Given the description of an element on the screen output the (x, y) to click on. 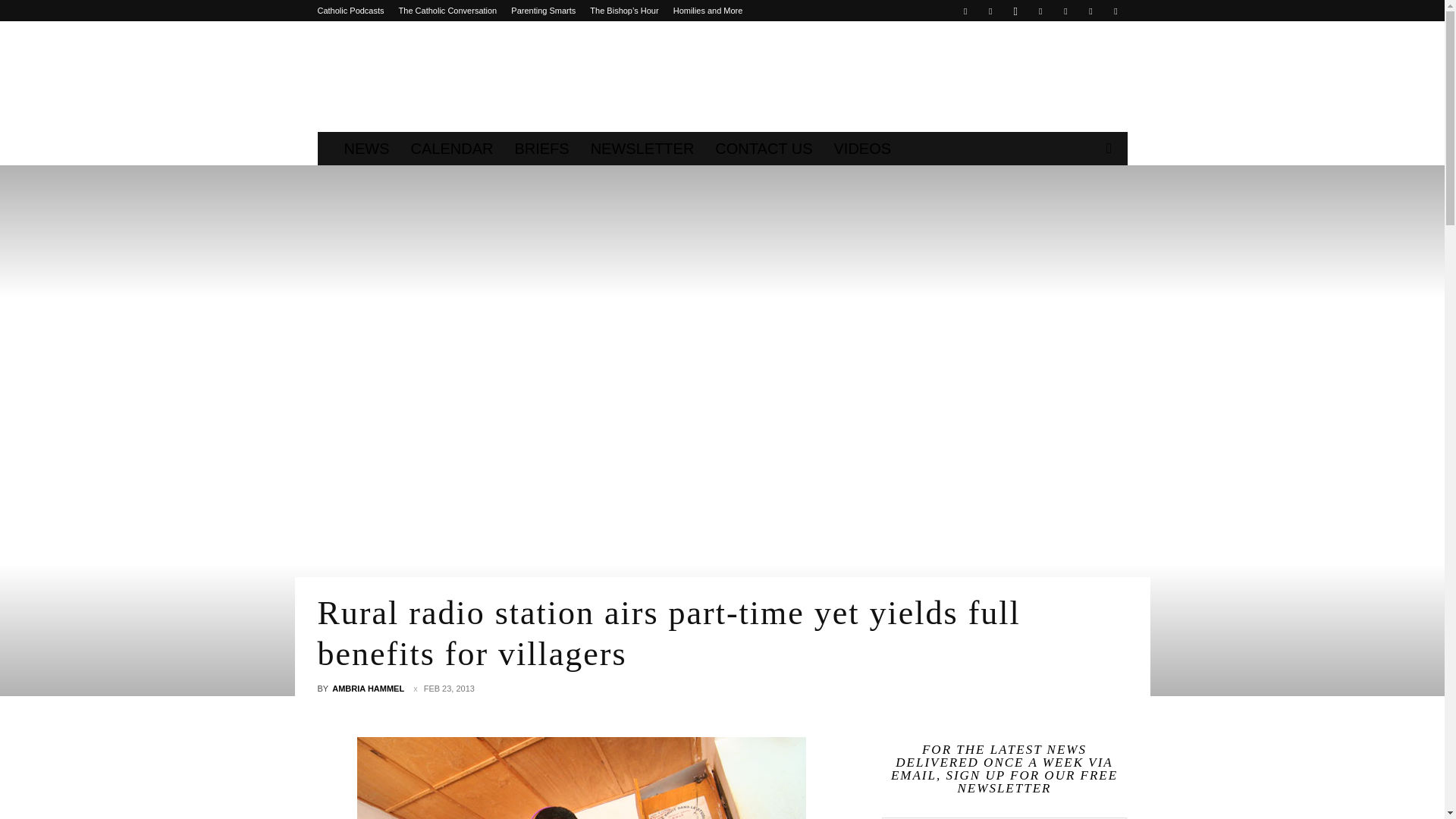
Catholic Podcasts (350, 10)
Linkedin (1040, 10)
Twitter (1065, 10)
The Catholic Conversation (447, 10)
NEWS (366, 148)
Instagram (1015, 10)
Flickr (989, 10)
Facebook (964, 10)
Homilies and More (707, 10)
Parenting Smarts (543, 10)
